Given the description of an element on the screen output the (x, y) to click on. 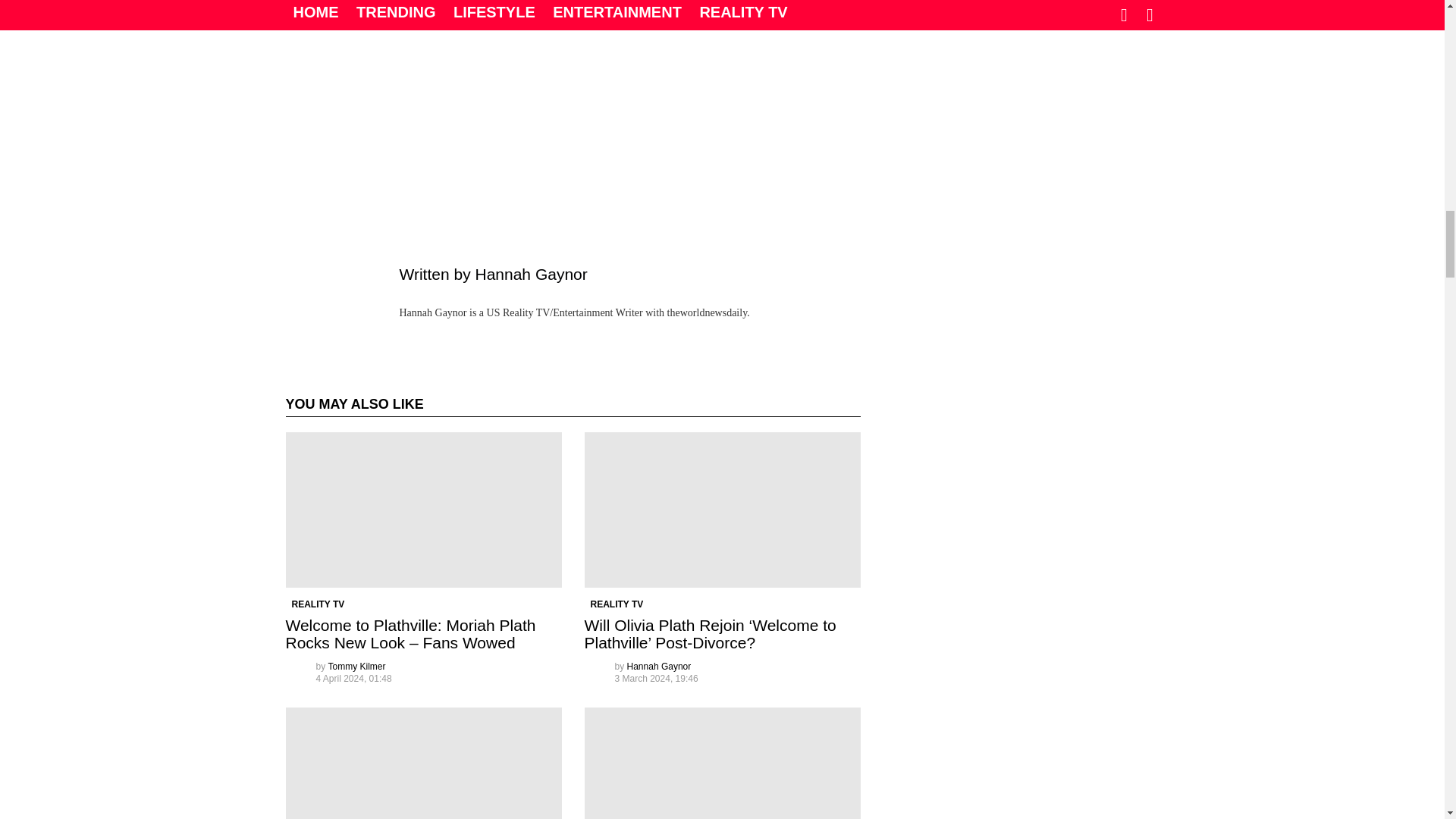
Hannah Gaynor (530, 273)
REALITY TV (317, 604)
Posts by Tommy Kilmer (357, 665)
Tommy Kilmer (357, 665)
Hannah Gaynor (659, 665)
Posts by Hannah Gaynor (659, 665)
REALITY TV (616, 604)
